Given the description of an element on the screen output the (x, y) to click on. 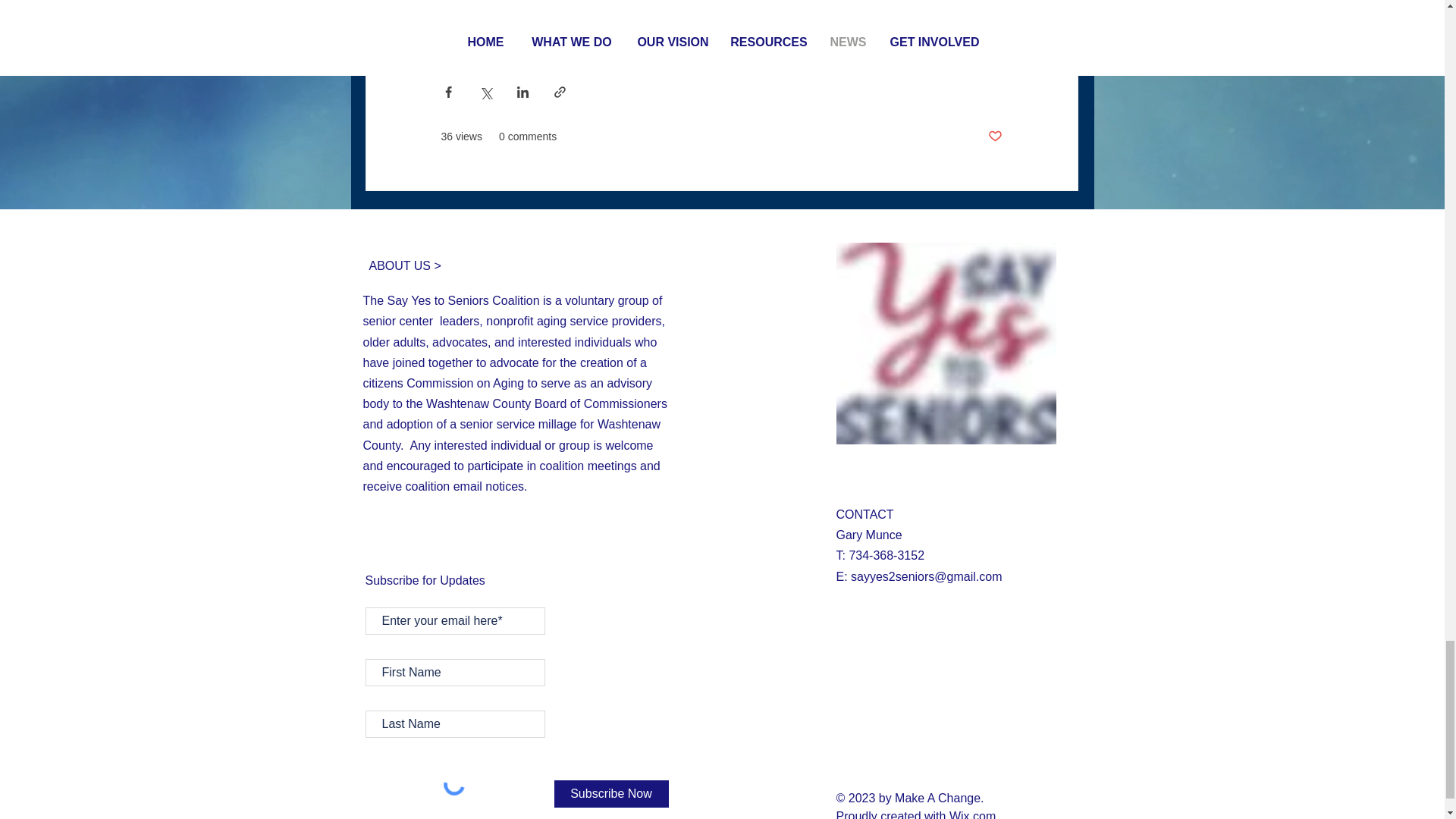
Post not marked as liked (994, 136)
0 comments (527, 136)
Subscribe Now (610, 793)
Wix.com (972, 814)
